Given the description of an element on the screen output the (x, y) to click on. 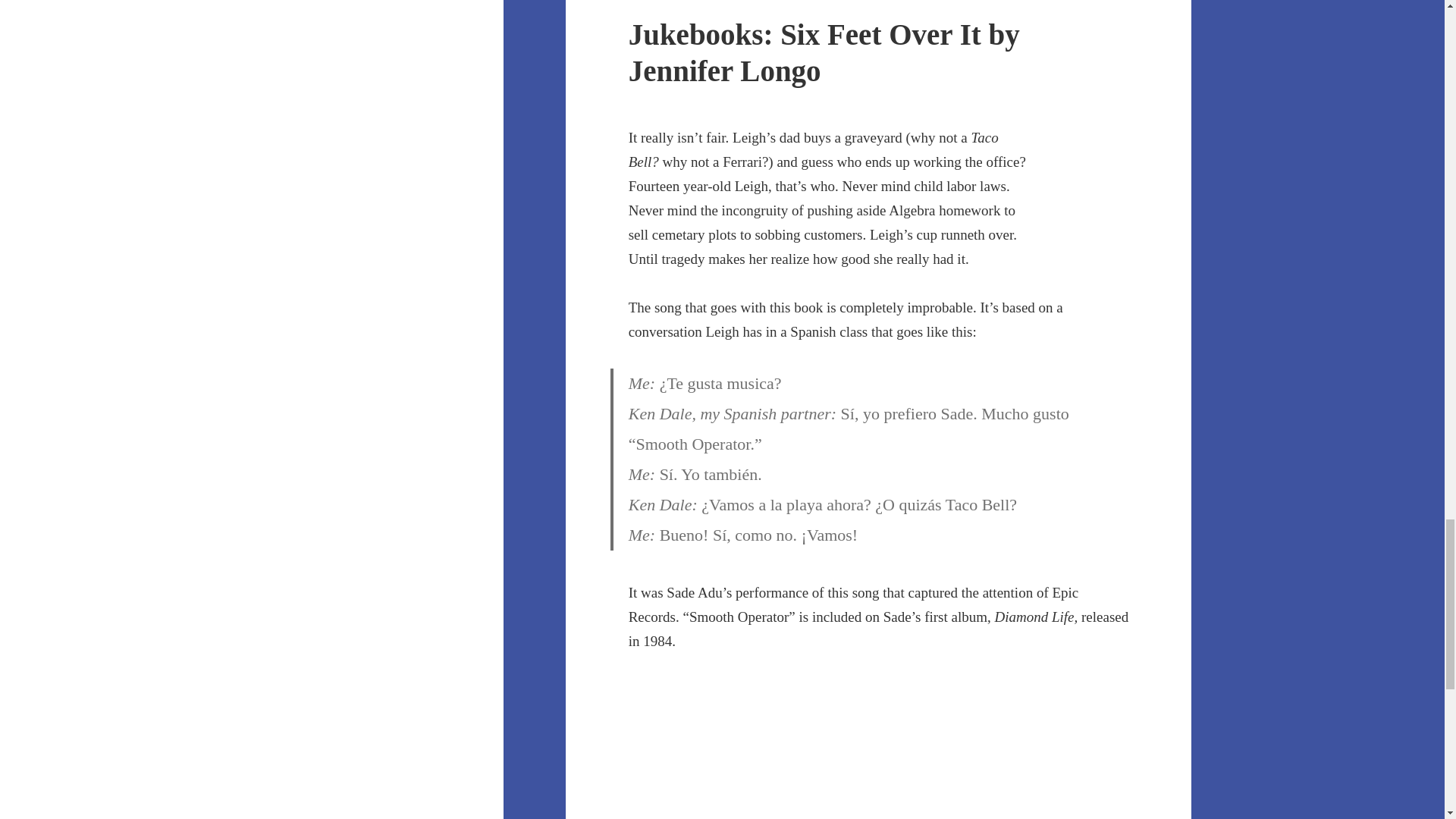
Sade - Smooth Operator - Official - 1984 (878, 748)
